Given the description of an element on the screen output the (x, y) to click on. 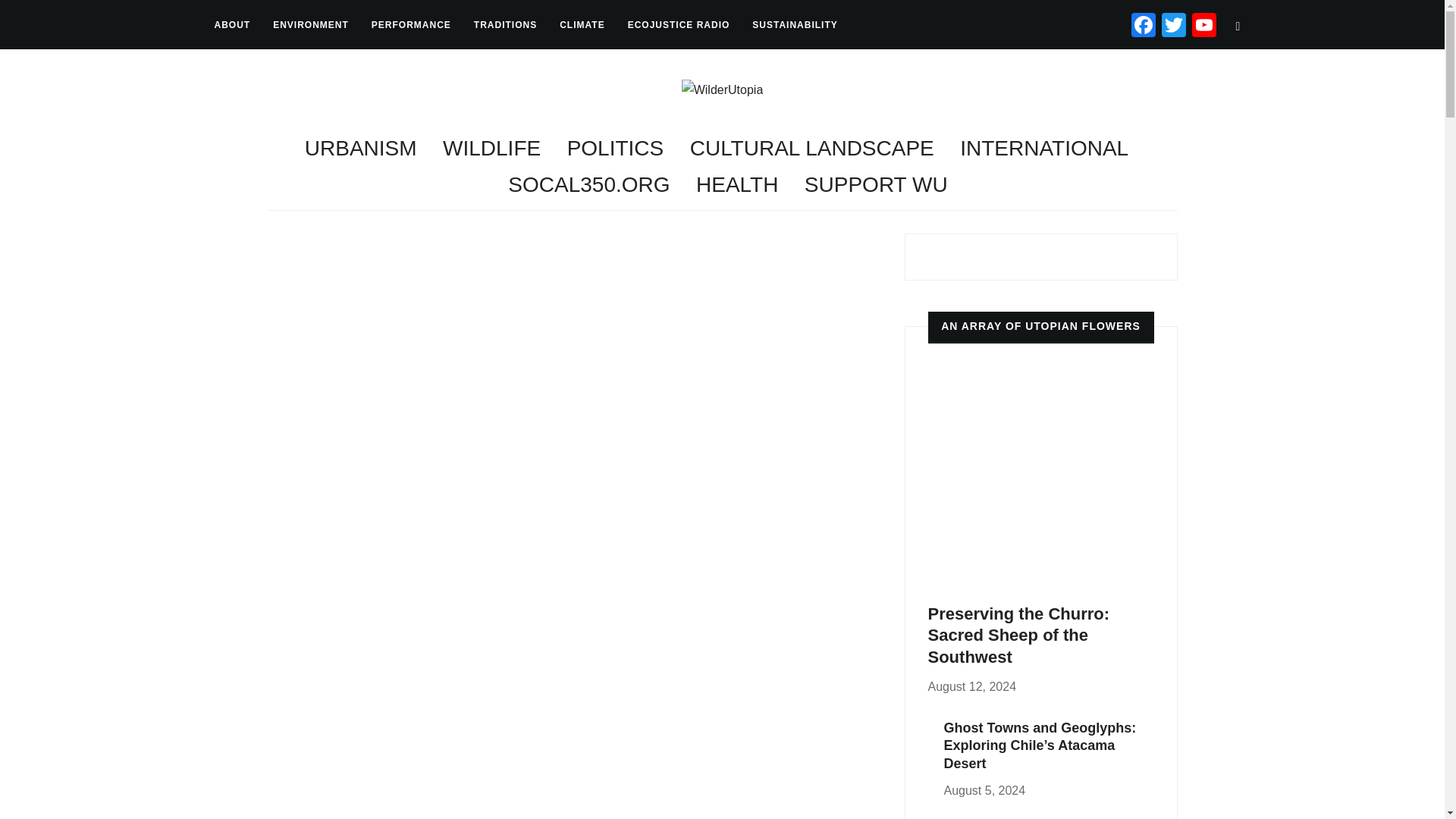
URBANISM (360, 148)
ABOUT (232, 24)
CLIMATE (581, 24)
ENVIRONMENT (311, 24)
Facebook (1143, 26)
Performance (411, 24)
SUPPORT WU (876, 185)
HEALTH (736, 185)
EcoJustice Radio (678, 24)
Urbanism (360, 148)
